Given the description of an element on the screen output the (x, y) to click on. 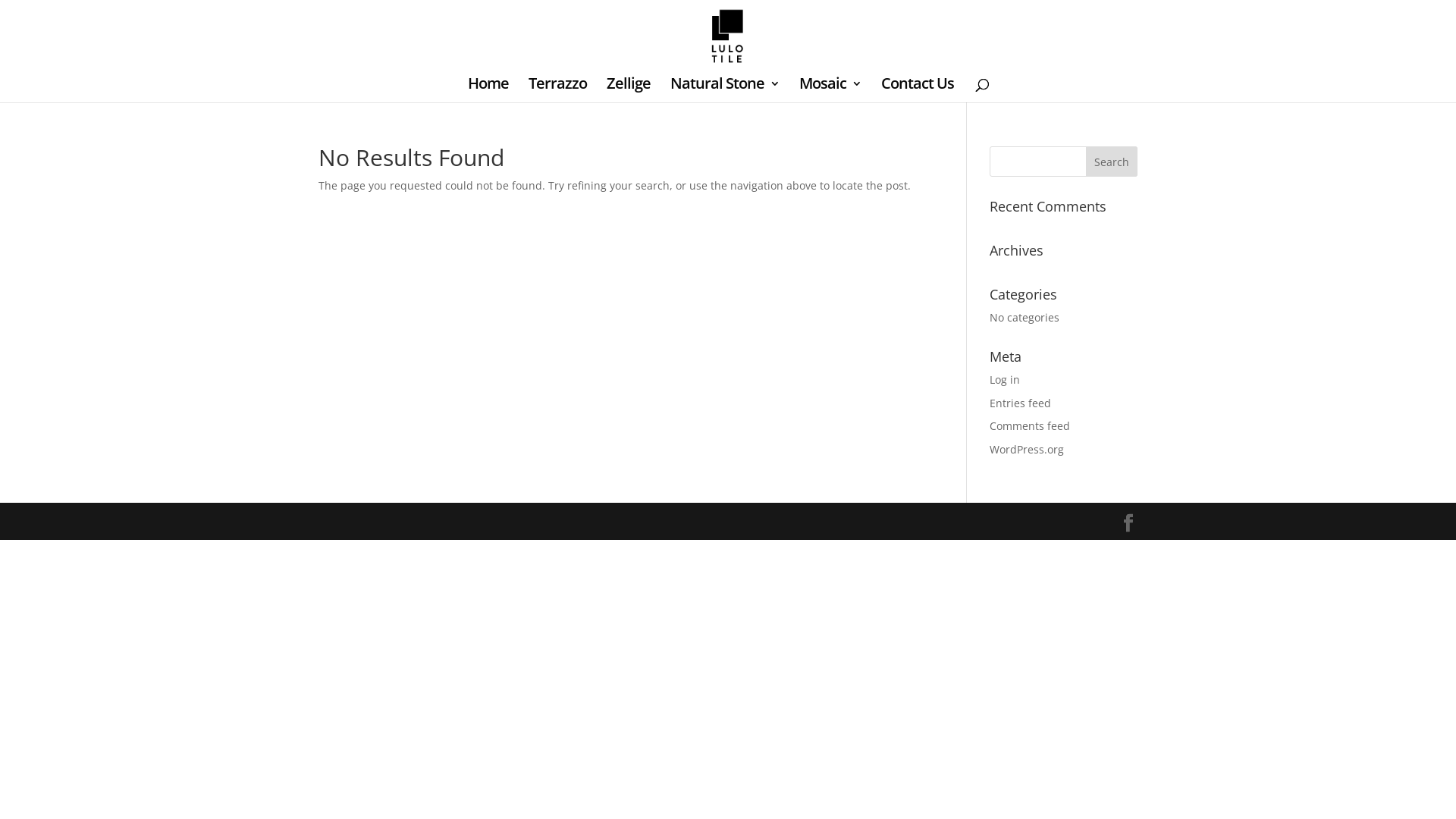
Mosaic Element type: text (830, 90)
Contact Us Element type: text (917, 90)
Comments feed Element type: text (1029, 425)
Terrazzo Element type: text (556, 90)
WordPress.org Element type: text (1026, 449)
Natural Stone Element type: text (724, 90)
Search Element type: text (1111, 161)
Log in Element type: text (1004, 379)
Entries feed Element type: text (1020, 402)
Zellige Element type: text (628, 90)
Home Element type: text (487, 90)
